Given the description of an element on the screen output the (x, y) to click on. 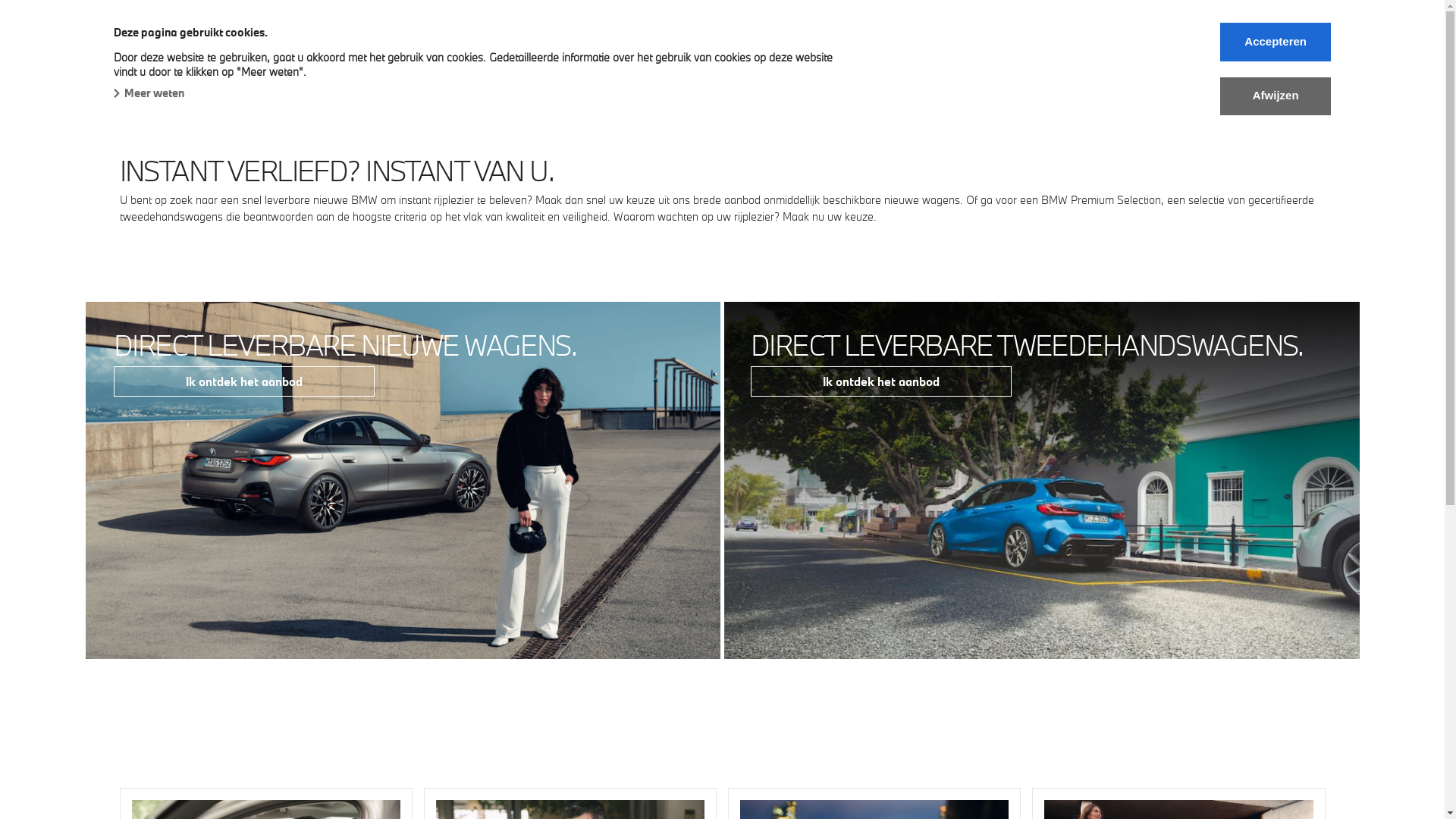
Ik ontdek het aanbod Element type: text (243, 381)
Afspraak Element type: text (508, 63)
Naverkoop Element type: text (424, 63)
Snel leverbare wagens Element type: text (301, 64)
Ik ontdek het aanbod Element type: text (880, 381)
Jobs Element type: text (918, 63)
Skip to main content Element type: text (0, 0)
Meer weten Element type: text (148, 92)
BMW Financial Services Element type: text (628, 63)
Onze concessies Element type: text (769, 63)
News Element type: text (861, 63)
Accepteren Element type: text (1275, 41)
Afwijzen Element type: text (1275, 95)
Contact Element type: text (982, 63)
NL/FR Element type: text (1052, 63)
BMW Gregoir Element type: text (153, 31)
Nieuwe wagens Element type: text (163, 63)
